Given the description of an element on the screen output the (x, y) to click on. 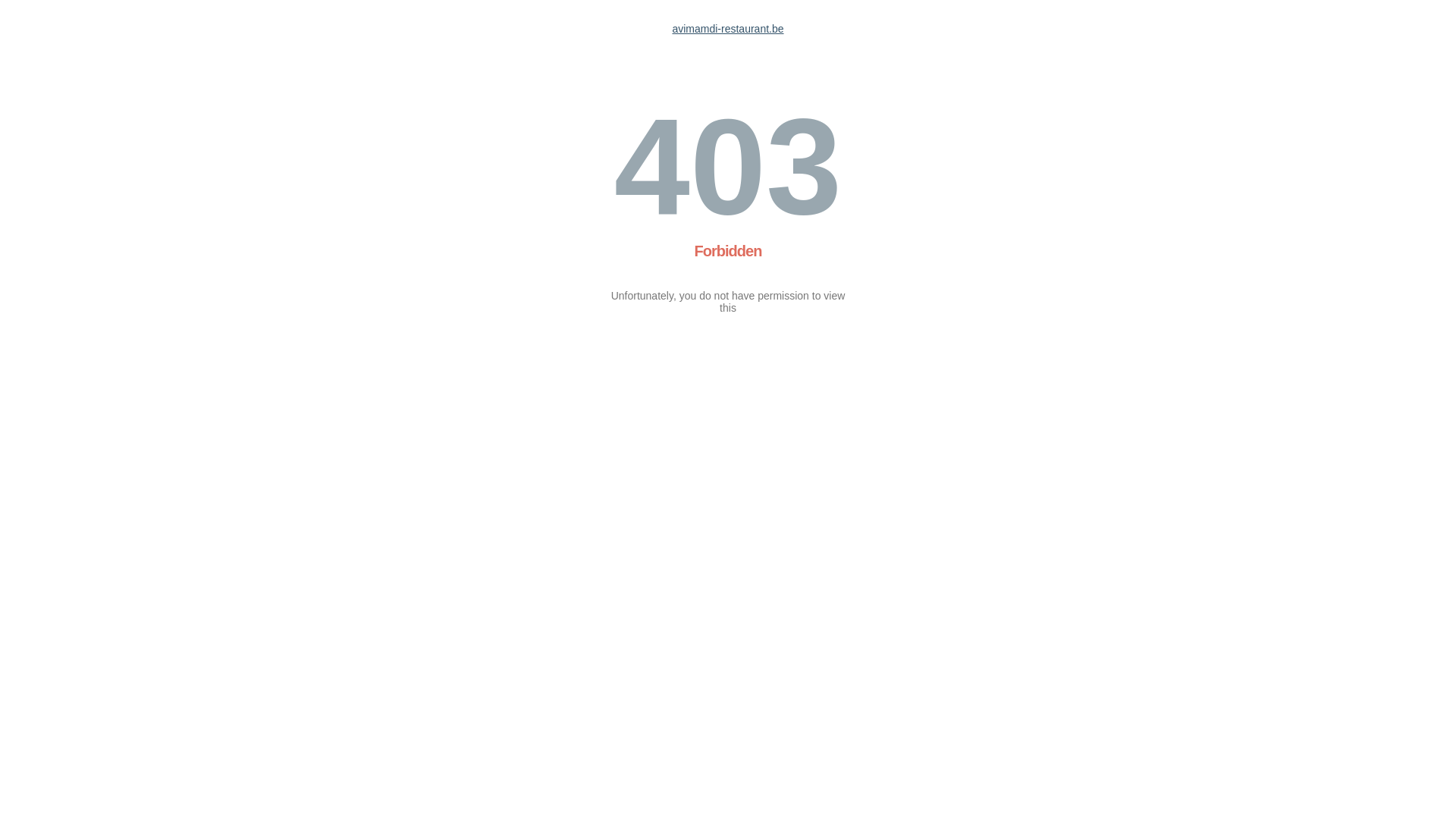
avimamdi-restaurant.be Element type: text (727, 28)
